Given the description of an element on the screen output the (x, y) to click on. 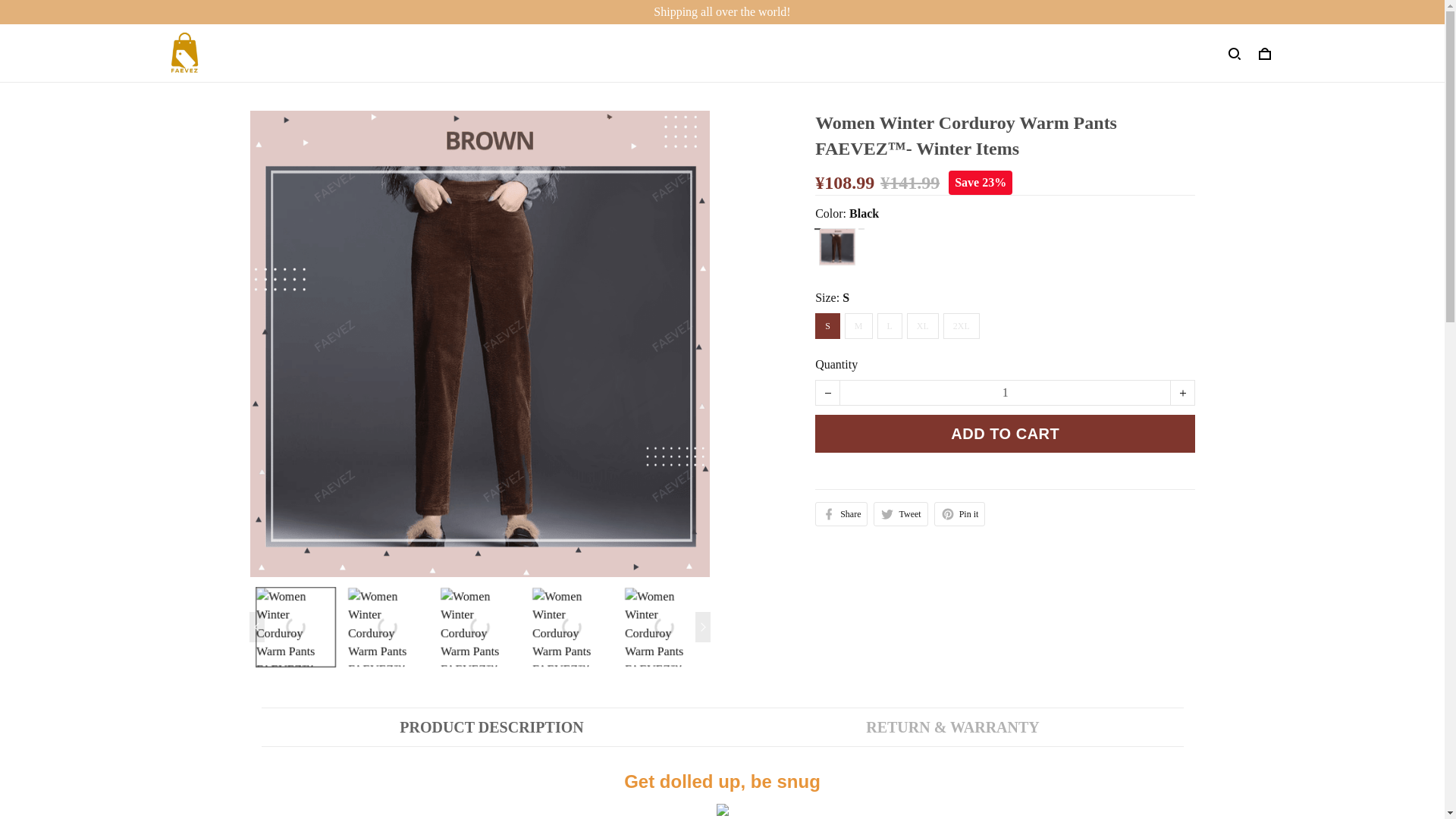
M (858, 325)
Share (841, 514)
Pin on Pinterest (959, 514)
Pin it (959, 514)
PRODUCT DESCRIPTION (491, 727)
S (827, 325)
Tweet (900, 514)
ADD TO CART (1005, 433)
2XL (961, 325)
Share on Twitter (900, 514)
XL (923, 325)
1 (1005, 392)
L (889, 325)
Share on Facebook (841, 514)
